Given the description of an element on the screen output the (x, y) to click on. 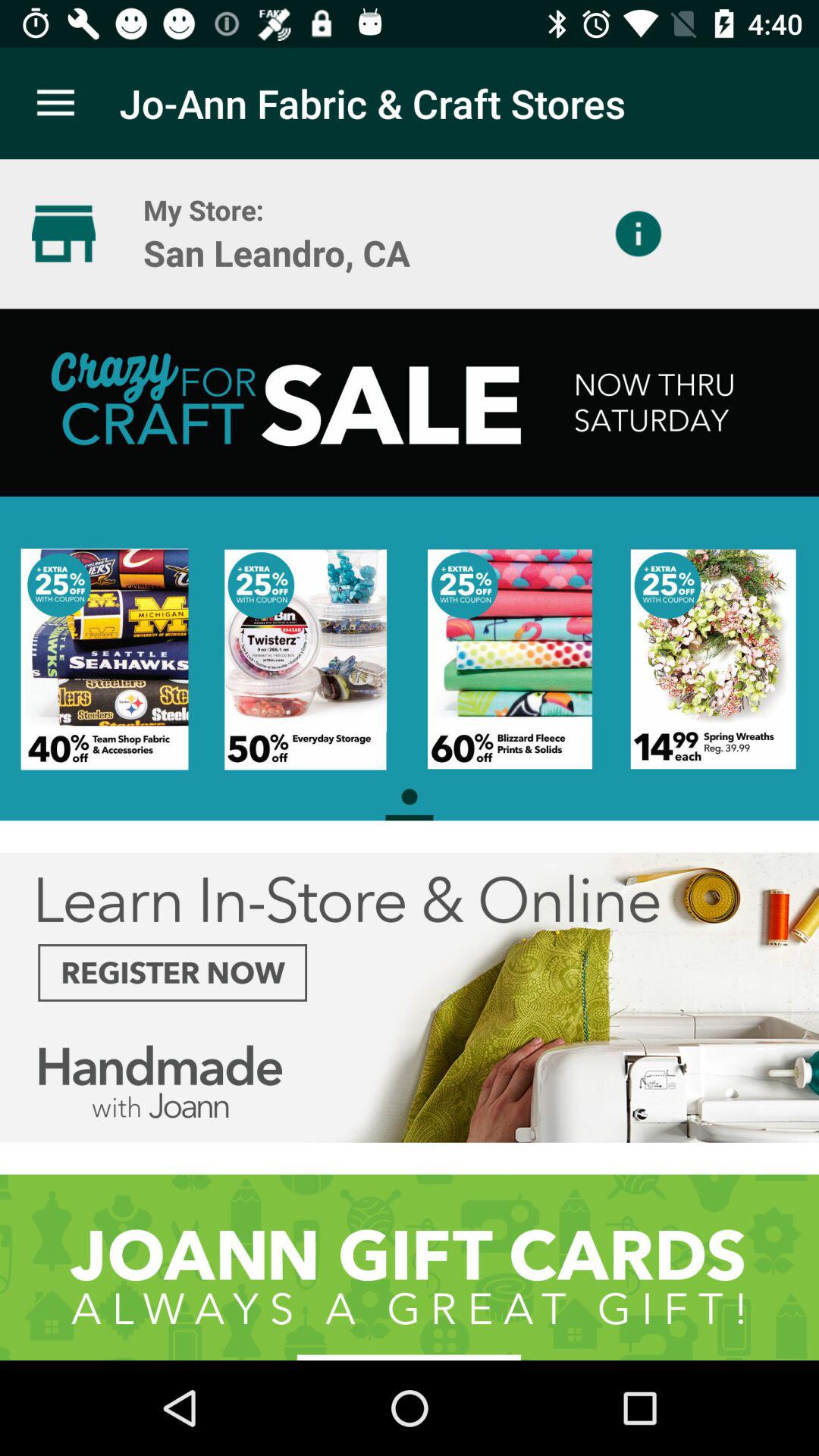
launch icon at the top right corner (638, 233)
